Given the description of an element on the screen output the (x, y) to click on. 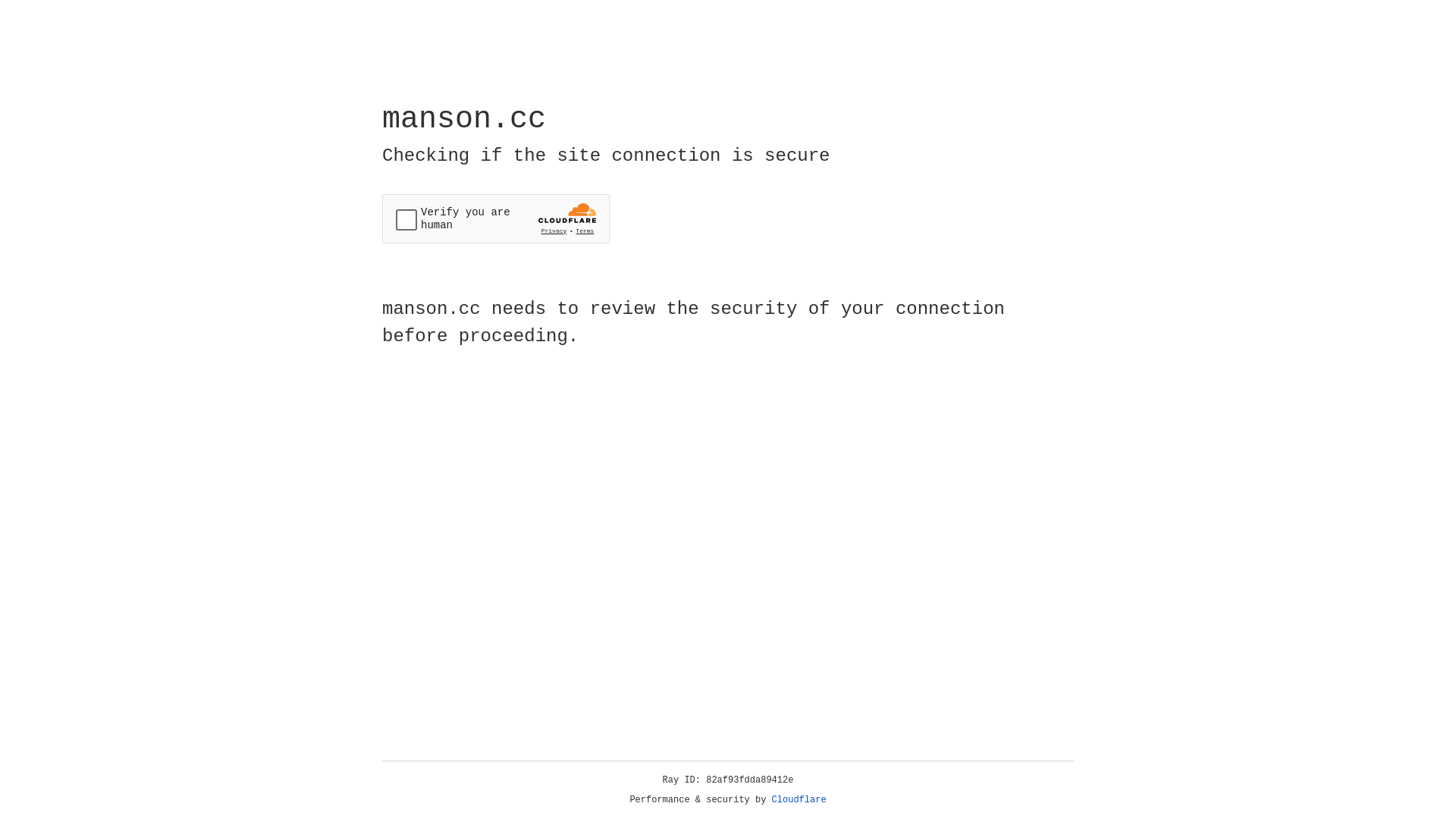
Cloudflare Element type: text (798, 799)
Widget containing a Cloudflare security challenge Element type: hover (495, 218)
